Given the description of an element on the screen output the (x, y) to click on. 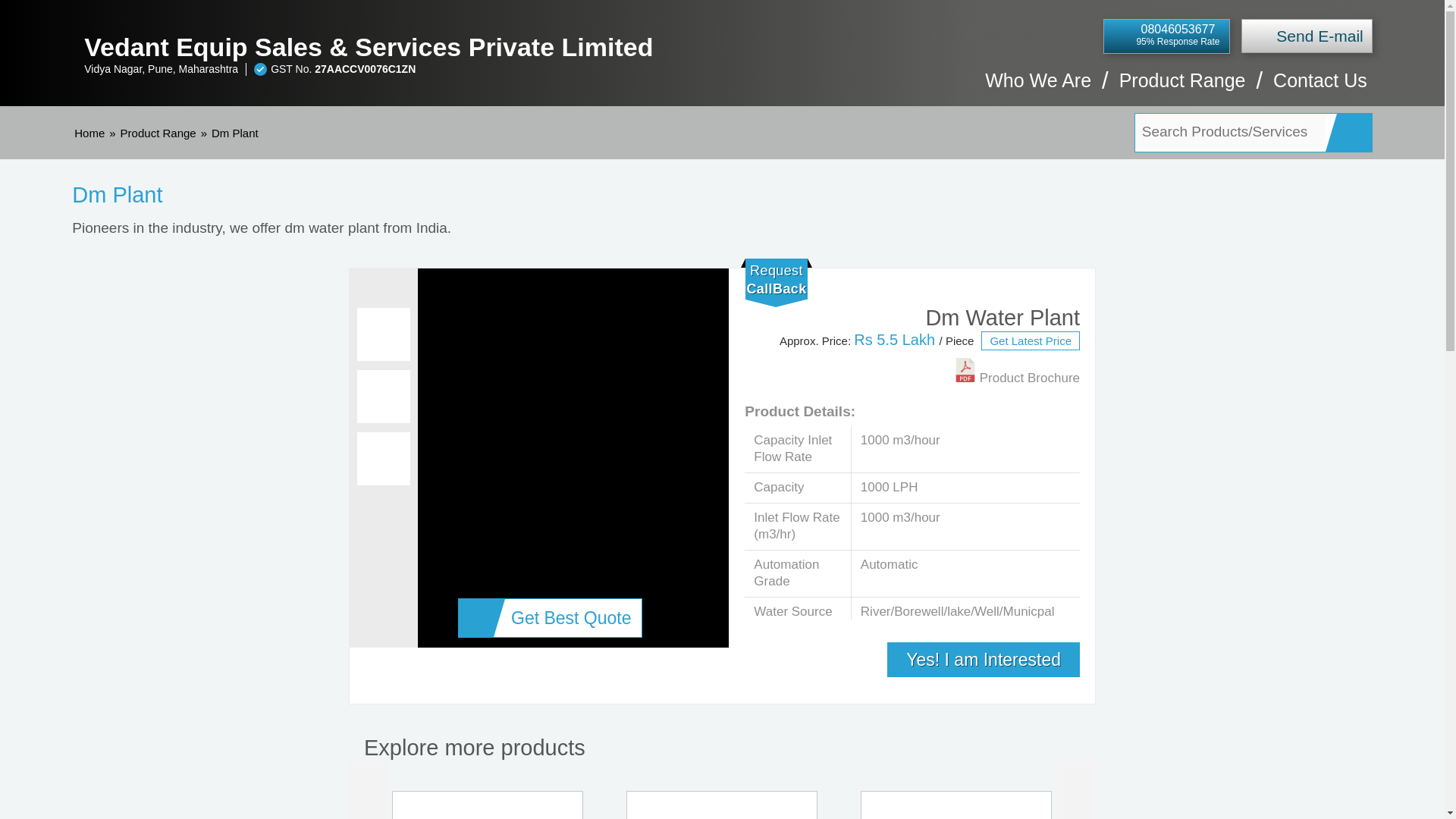
Product Range (158, 132)
Who We Are (1037, 88)
Contact Us (1319, 88)
Product Range (1182, 88)
Home (89, 132)
